Given the description of an element on the screen output the (x, y) to click on. 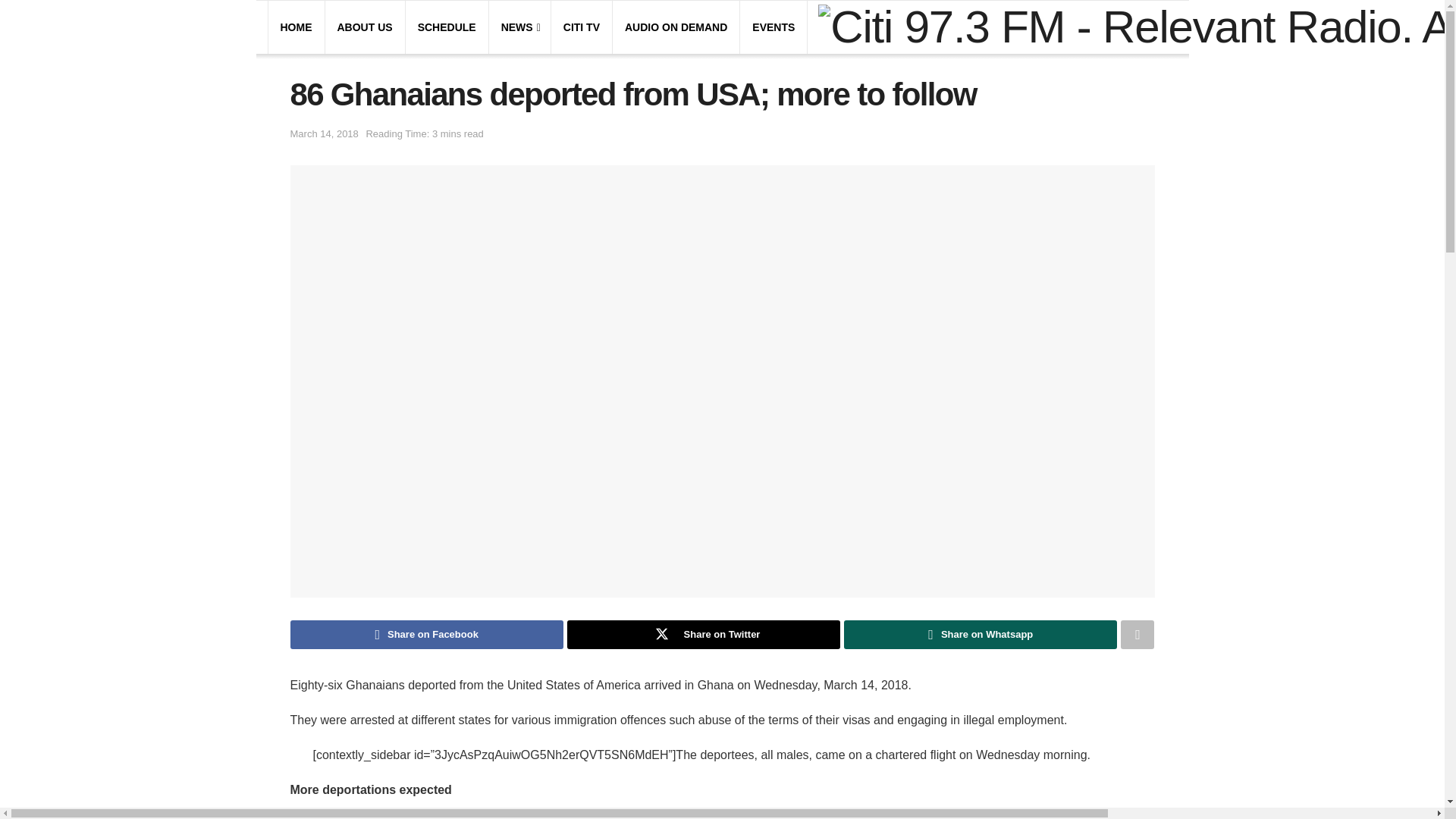
AUDIO ON DEMAND (675, 26)
Share on Whatsapp (980, 634)
NEWS (519, 26)
Share on Facebook (425, 634)
Share on Twitter (703, 634)
CITI TV (581, 26)
EVENTS (773, 26)
HOME (297, 26)
SCHEDULE (446, 26)
ABOUT US (363, 26)
